Given the description of an element on the screen output the (x, y) to click on. 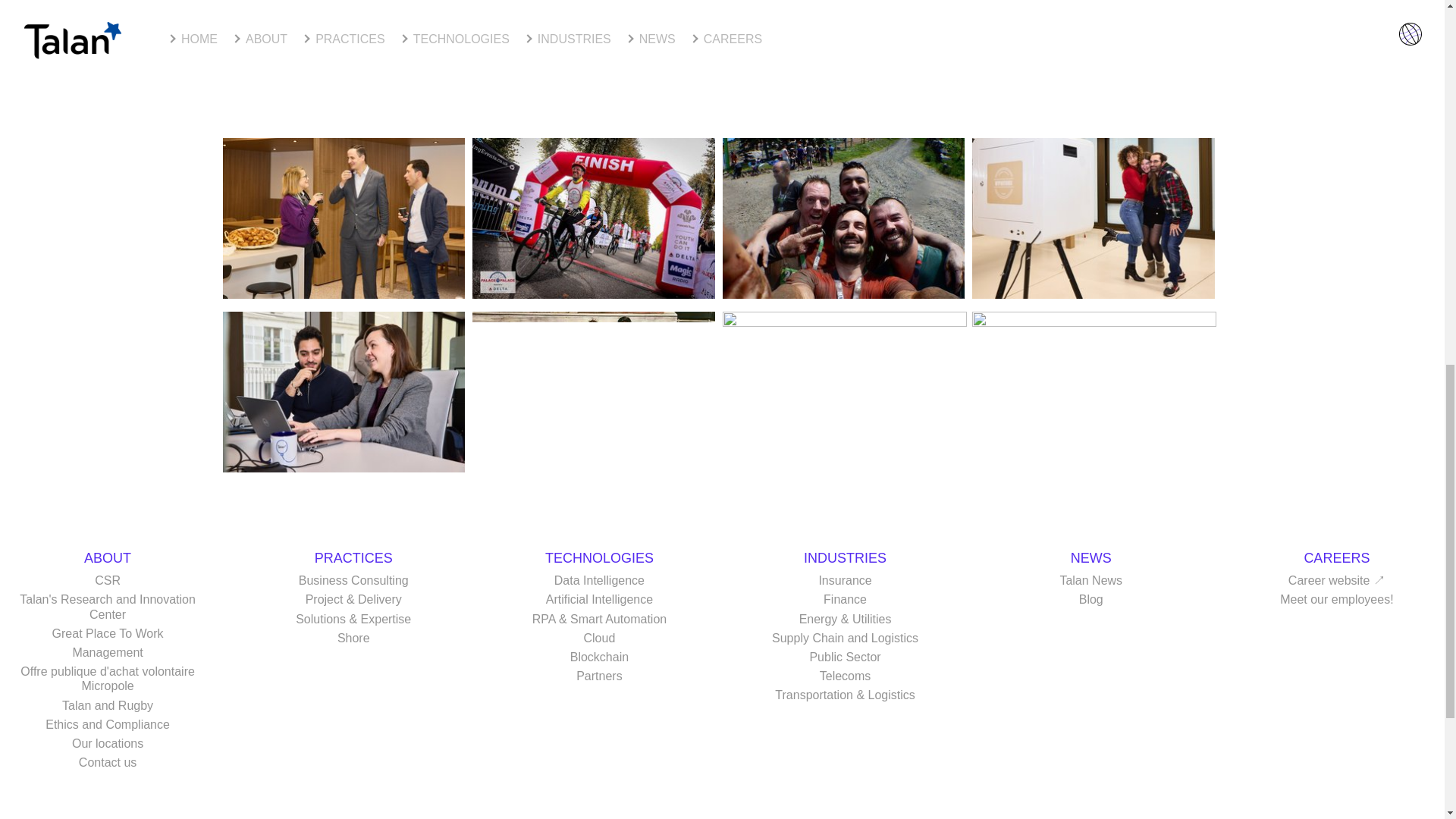
Shore (353, 637)
Offre publique d'achat volontaire Micropole (107, 678)
Management (106, 652)
Data Intelligence (599, 580)
Ethics and Compliance (107, 724)
Great Place To Work (107, 633)
Talan and Rugby (107, 705)
Business Consulting (353, 580)
Cloud (599, 637)
Contact us (107, 762)
